Given the description of an element on the screen output the (x, y) to click on. 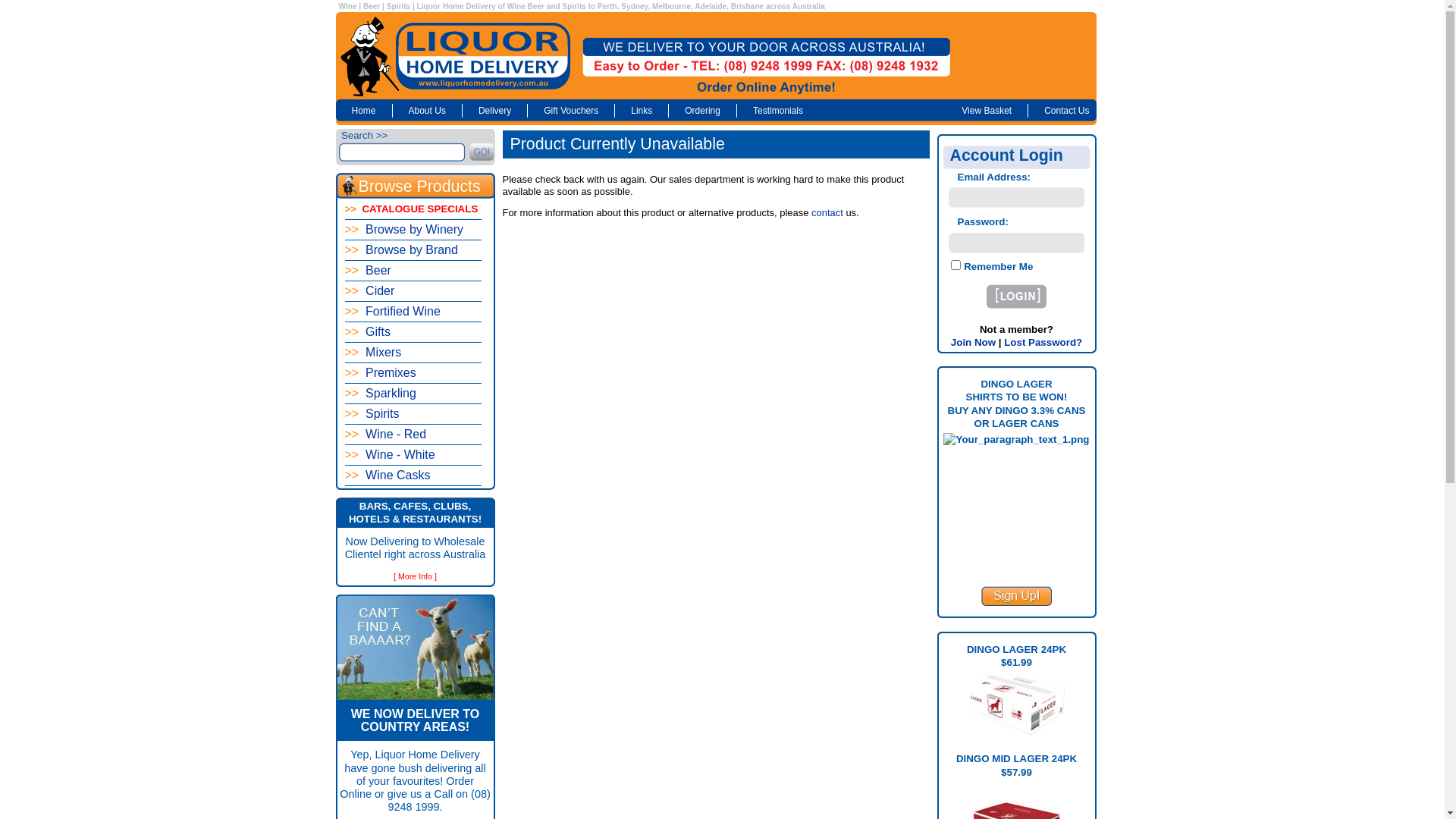
>>  Wine - Red Element type: text (412, 434)
Ordering Element type: text (702, 110)
About Us Element type: text (426, 110)
Delivery Element type: text (494, 110)
View Basket Element type: text (994, 110)
Gift Vouchers Element type: text (570, 110)
>>  Premixes Element type: text (412, 373)
rememberMe Element type: text (955, 264)
>>  Mixers Element type: text (412, 352)
Lost Password? Element type: text (1043, 342)
contact Element type: text (827, 212)
>>  Beer Element type: text (412, 270)
Contact Us Element type: text (1066, 110)
>>  Cider Element type: text (412, 291)
>>  Wine - White Element type: text (412, 455)
>>  Browse by Winery Element type: text (412, 229)
>>  Browse by Brand Element type: text (412, 250)
Testimonials Element type: text (778, 110)
Home Element type: text (363, 110)
[ More Info ] Element type: text (414, 575)
>>  Spirits Element type: text (412, 414)
>>  Gifts Element type: text (412, 332)
Links Element type: text (641, 110)
>>  CATALOGUE SPECIALS Element type: text (412, 208)
Join Now Element type: text (972, 342)
>>  Fortified Wine Element type: text (412, 311)
>>  Wine Casks Element type: text (412, 475)
>>  Sparkling Element type: text (412, 393)
